Given the description of an element on the screen output the (x, y) to click on. 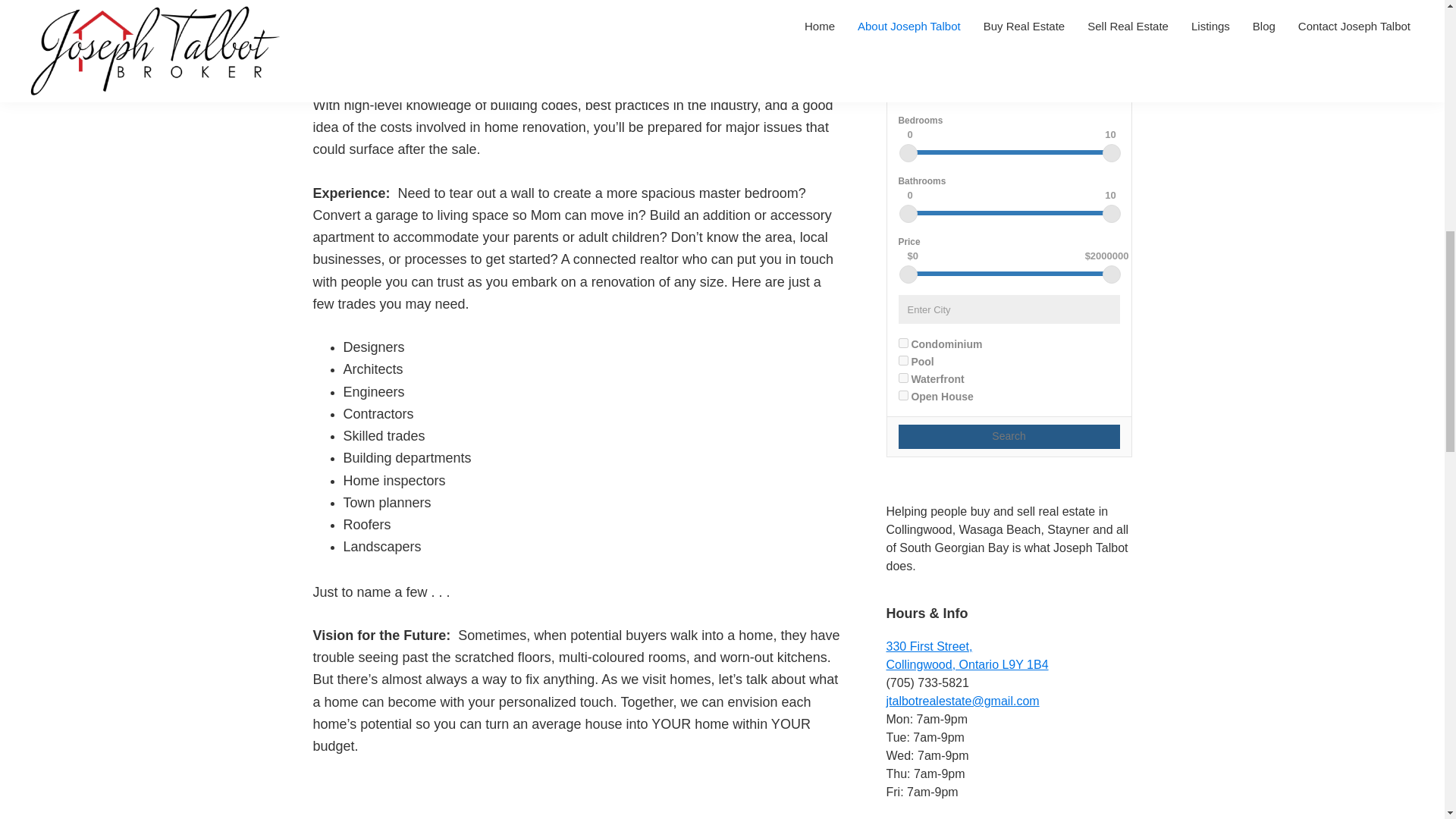
Search (1008, 436)
1 (902, 343)
1 (966, 654)
1 (902, 378)
1 (902, 395)
